Given the description of an element on the screen output the (x, y) to click on. 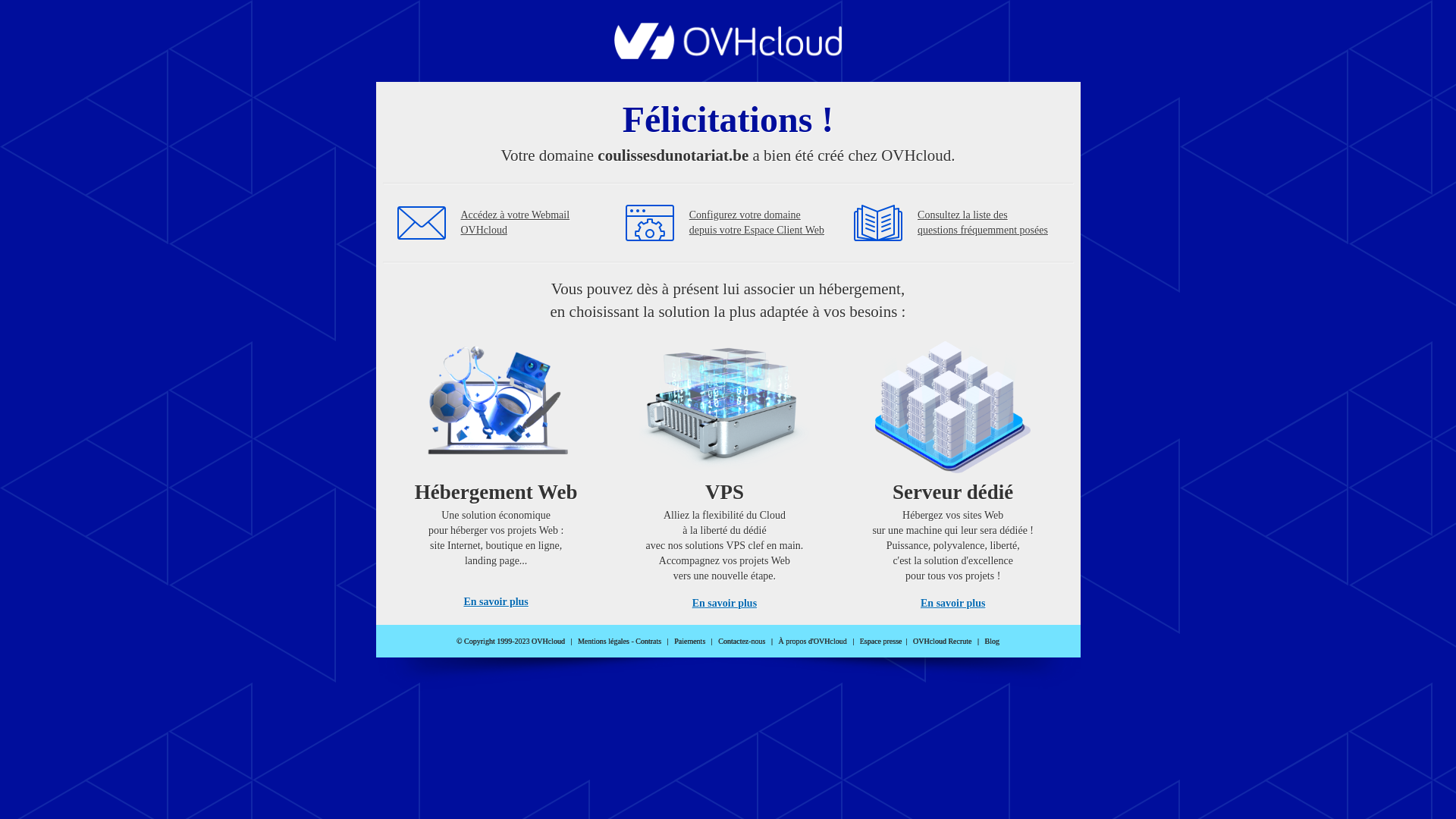
En savoir plus Element type: text (495, 601)
Blog Element type: text (992, 641)
Configurez votre domaine
depuis votre Espace Client Web Element type: text (756, 222)
Paiements Element type: text (689, 641)
Contactez-nous Element type: text (741, 641)
En savoir plus Element type: text (724, 602)
OVHcloud Element type: hover (727, 54)
OVHcloud Recrute Element type: text (942, 641)
Espace presse Element type: text (880, 641)
VPS Element type: hover (724, 469)
En savoir plus Element type: text (952, 602)
